Given the description of an element on the screen output the (x, y) to click on. 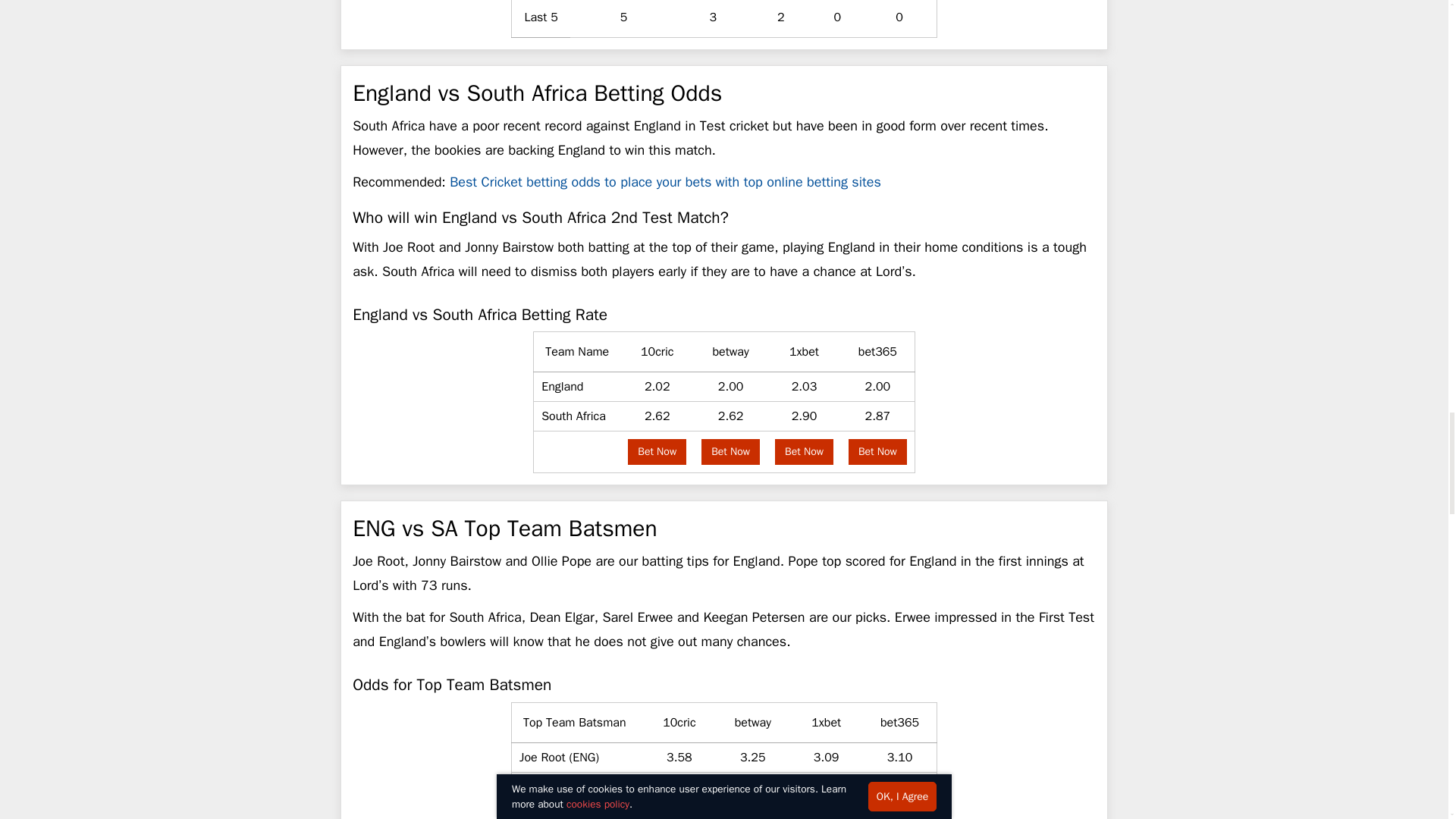
Bet Now (656, 451)
Bet Now (877, 451)
Bet Now (803, 451)
Bet Now (730, 451)
